Given the description of an element on the screen output the (x, y) to click on. 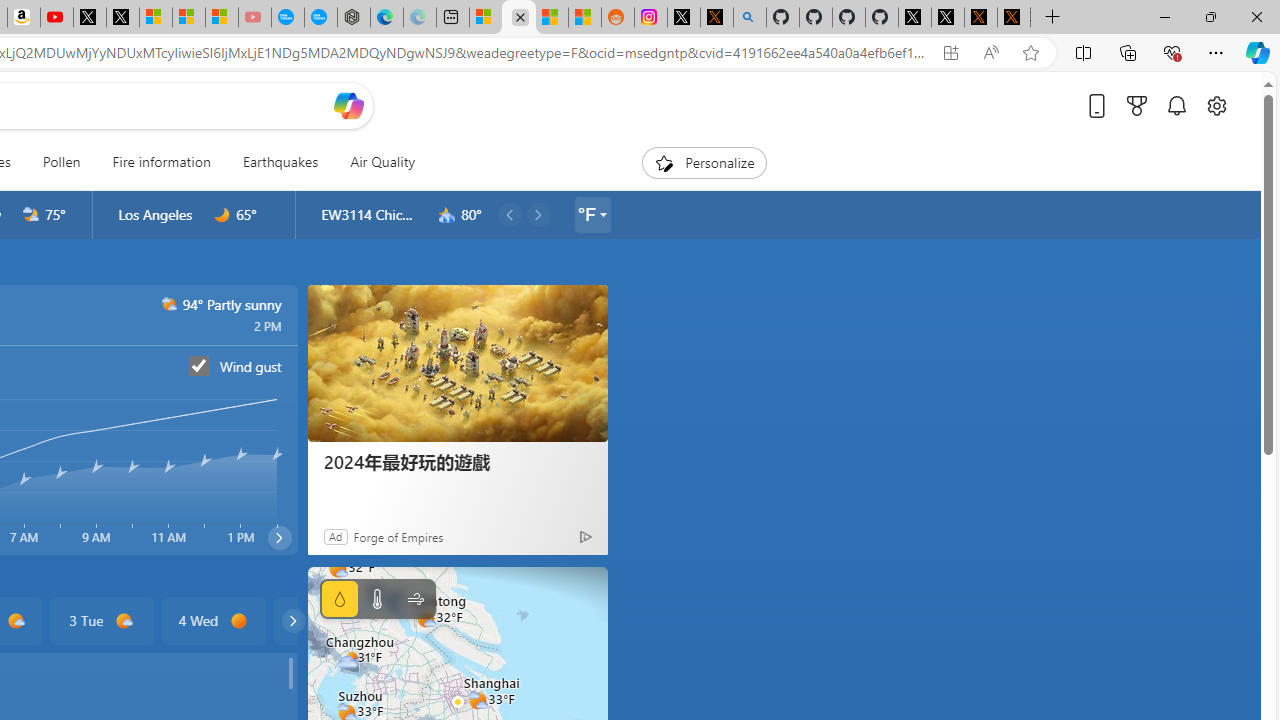
github - Search (749, 17)
Open settings (1216, 105)
X Privacy Policy (1014, 17)
GitHub (@github) / X (947, 17)
Opinion: Op-Ed and Commentary - USA TODAY (287, 17)
